Given the description of an element on the screen output the (x, y) to click on. 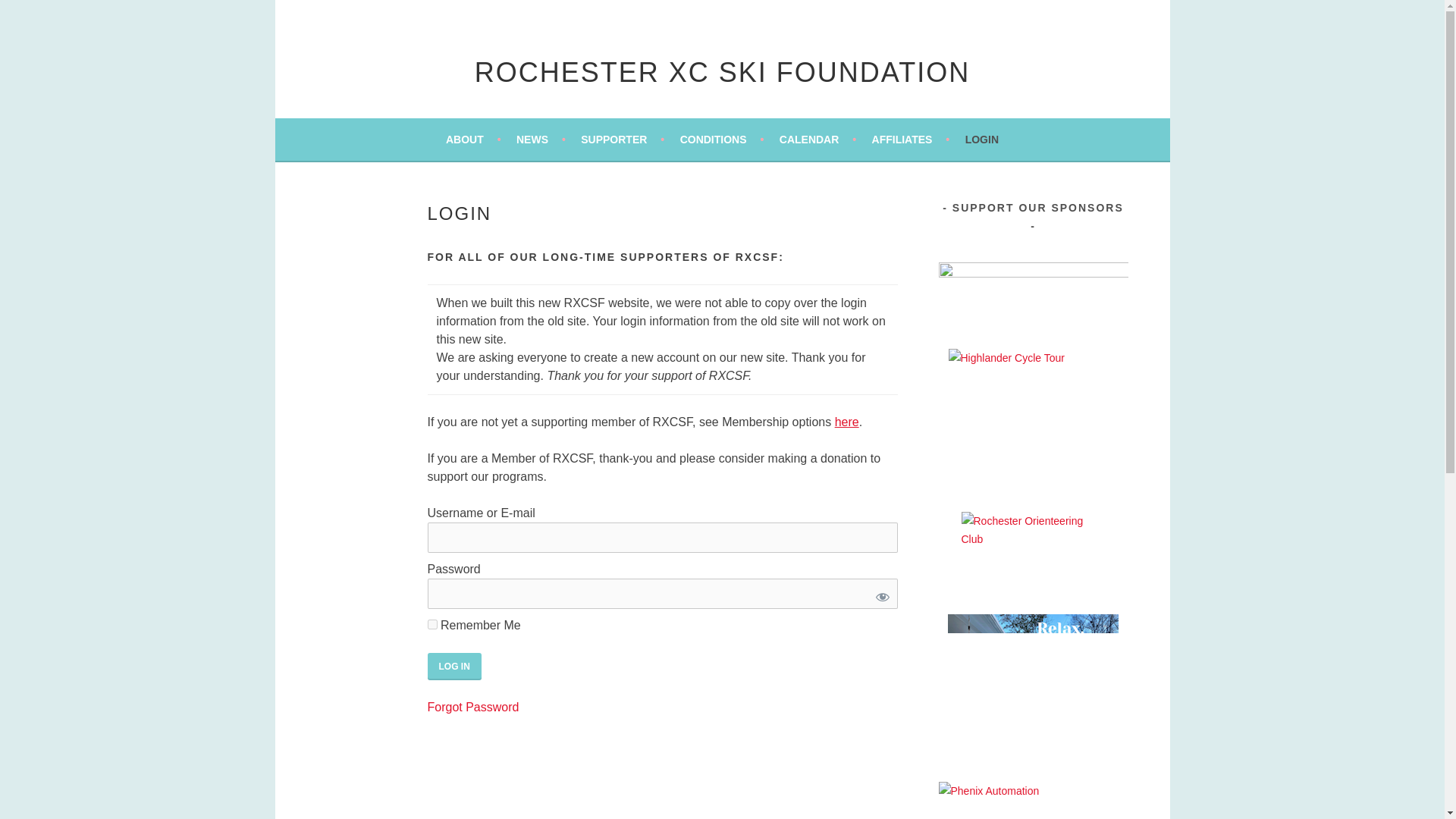
CONDITIONS (721, 139)
Forgot Password (473, 707)
LOGIN (981, 139)
CALENDAR (817, 139)
Rochester XC Ski Foundation (721, 71)
SUPPORTER (621, 139)
forever (433, 624)
ROCHESTER XC SKI FOUNDATION (721, 71)
Highlander Cycle Tour (1032, 416)
ABOUT (472, 139)
Search (30, 13)
NEWS (541, 139)
Log In (454, 666)
Log In (454, 666)
here (846, 421)
